Given the description of an element on the screen output the (x, y) to click on. 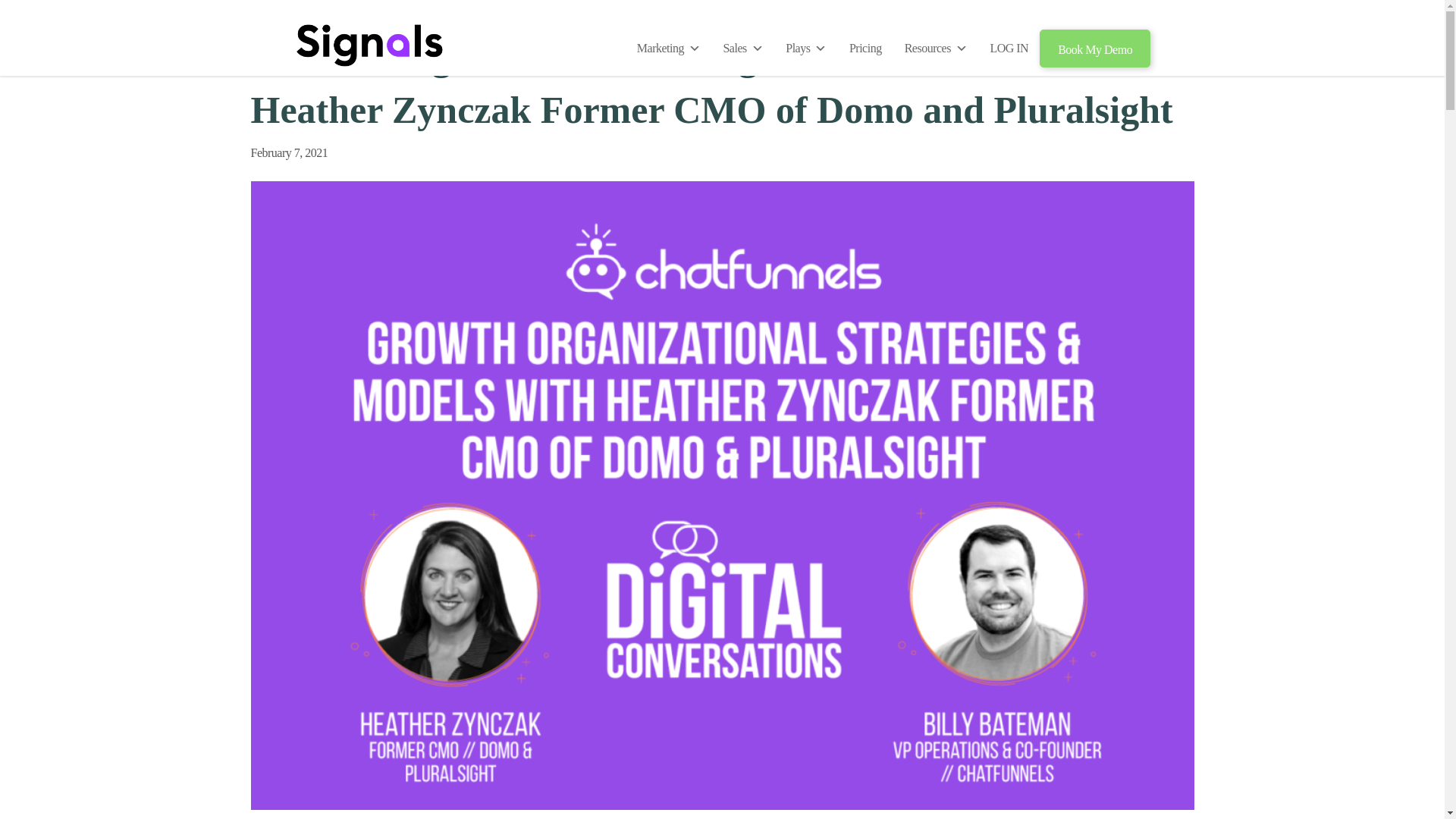
Pricing (865, 48)
Book My Demo (1094, 48)
LOG IN (1008, 48)
Marketing (668, 48)
Plays (806, 48)
Resources (935, 48)
Sales (742, 48)
